Given the description of an element on the screen output the (x, y) to click on. 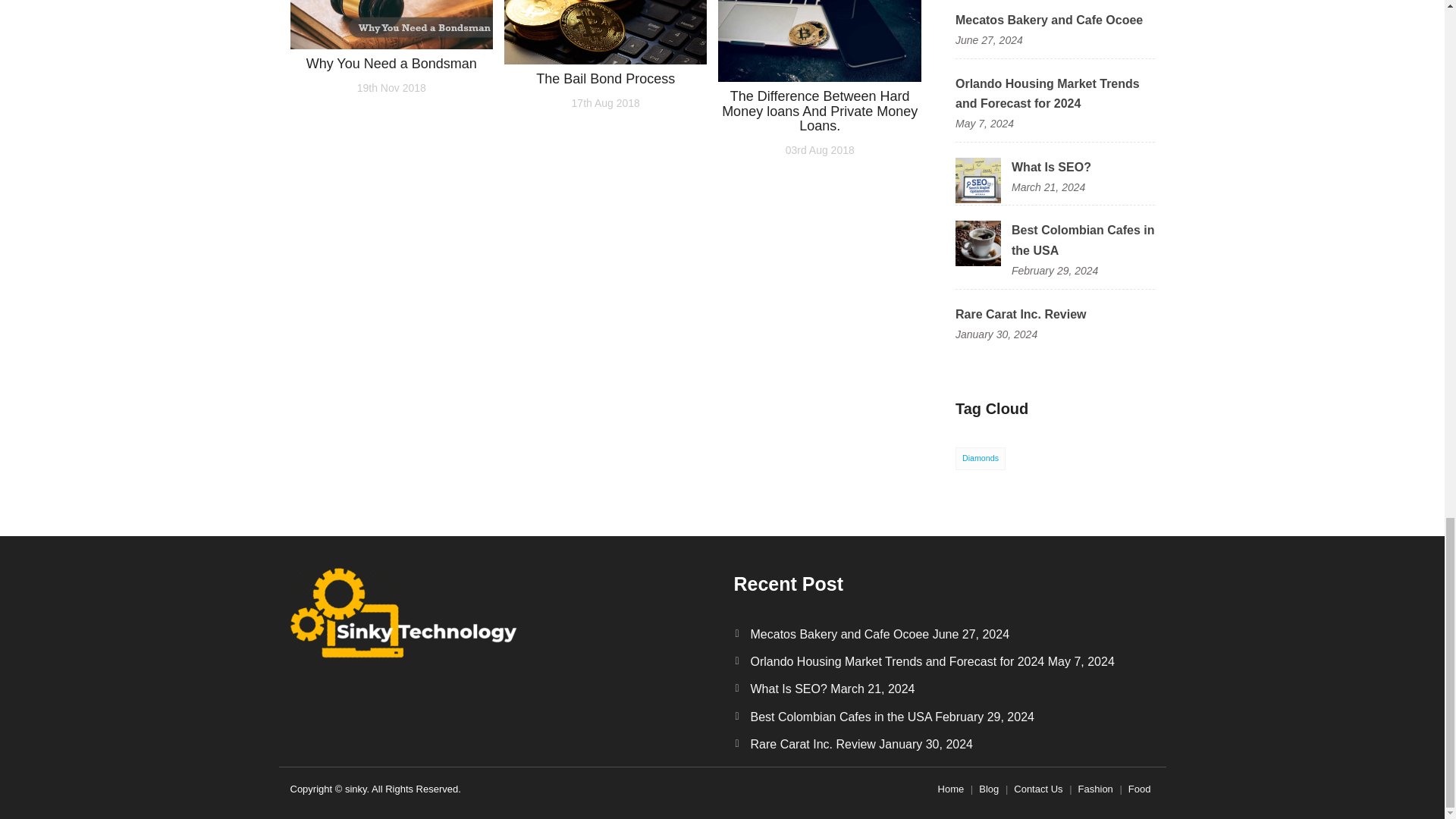
Orlando Housing Market Trends and Forecast for 2024 (1047, 92)
What Is SEO? (978, 178)
What Is SEO? (1050, 166)
Mecatos Bakery and Cafe Ocoee (1048, 19)
Best Colombian Cafes in the USA (978, 242)
Best Colombian Cafes in the USA (1082, 239)
Rare Carat Inc. Review (1020, 314)
